Given the description of an element on the screen output the (x, y) to click on. 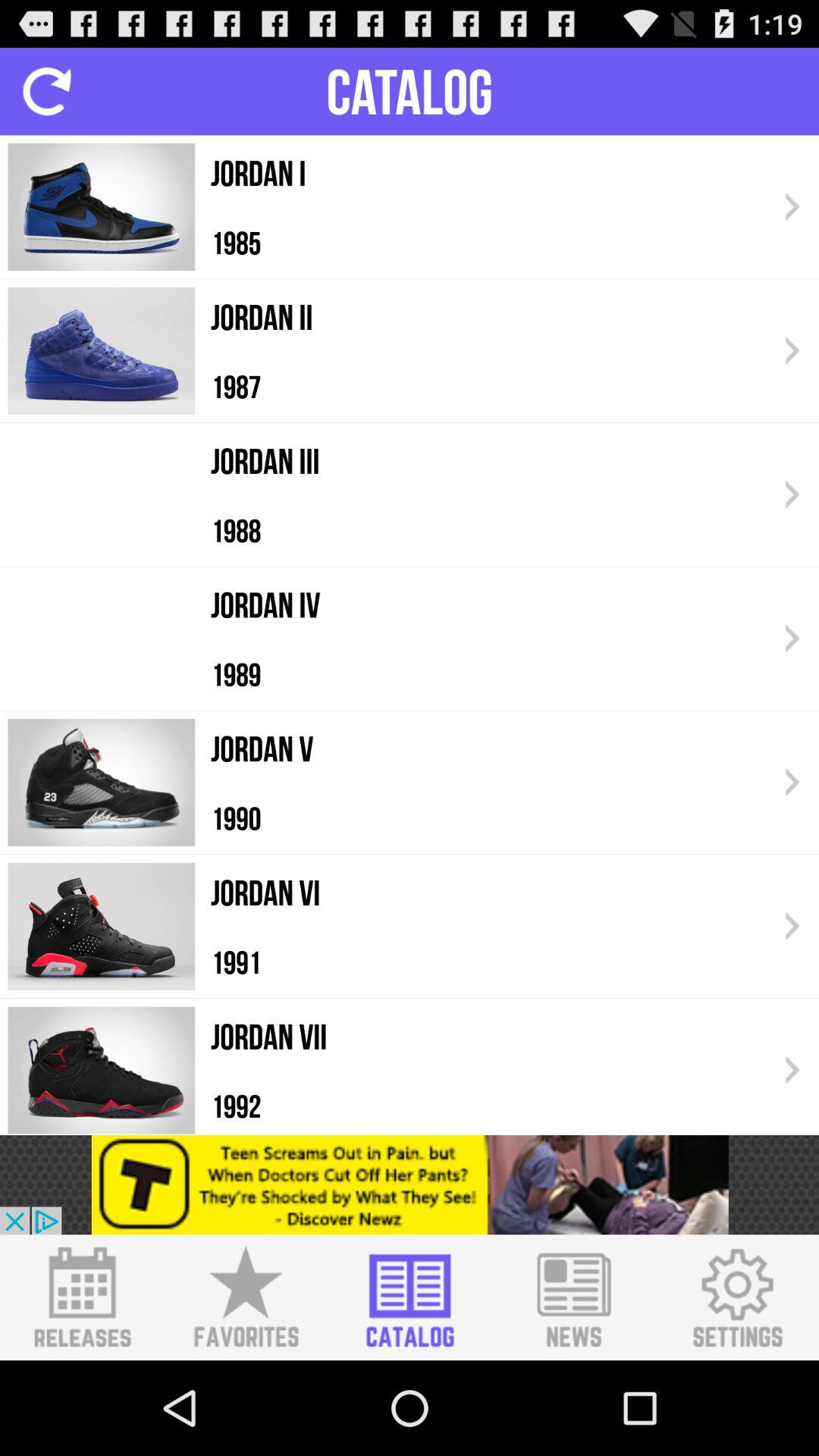
click to favorites (245, 1297)
